Given the description of an element on the screen output the (x, y) to click on. 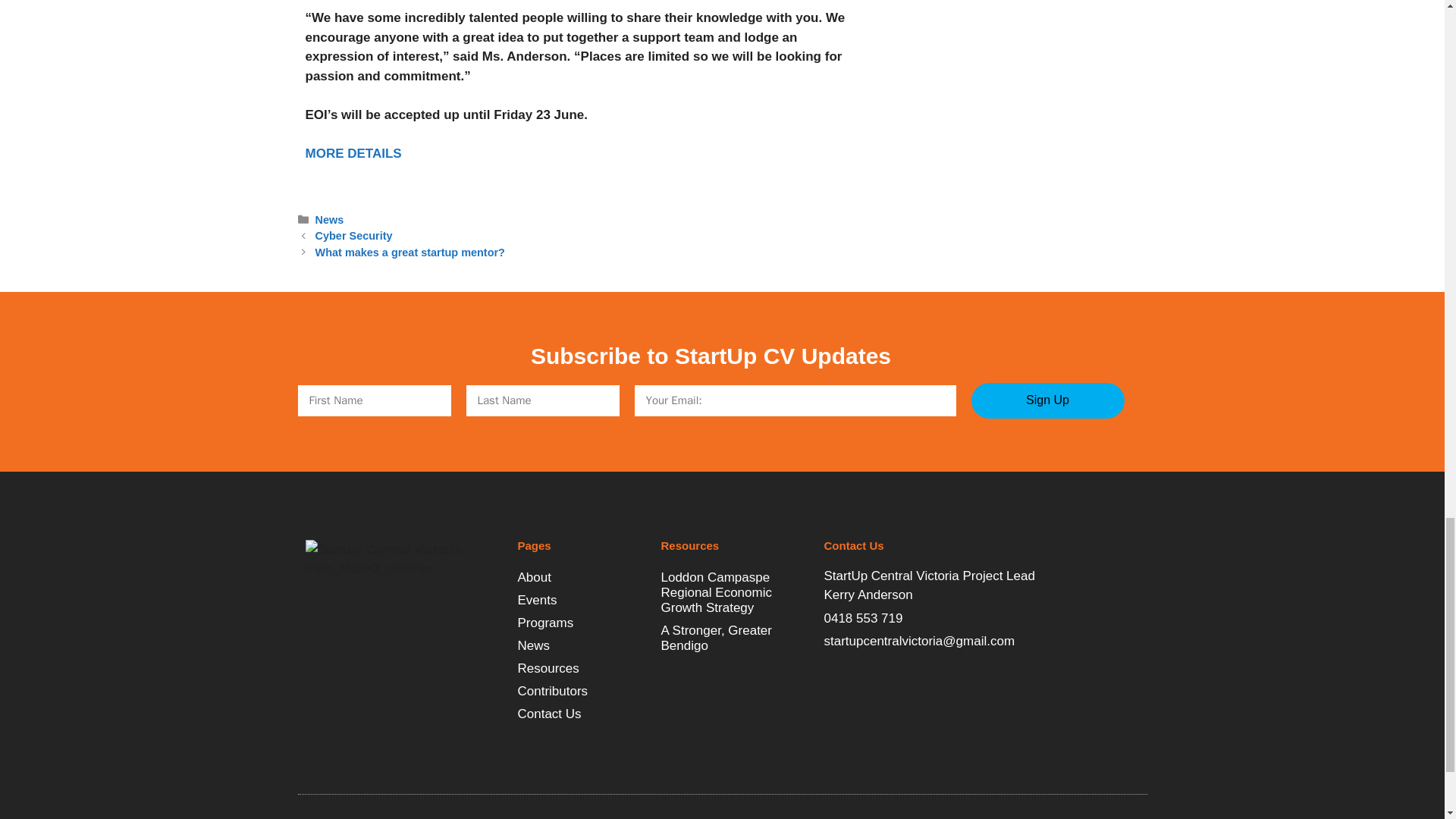
Contributors (580, 691)
About (580, 577)
Cyber Security (354, 235)
MORE DETAILS (352, 153)
Events (580, 599)
News (329, 219)
Sign Up (1047, 400)
Next (410, 252)
Programs (580, 622)
News (580, 645)
